Given the description of an element on the screen output the (x, y) to click on. 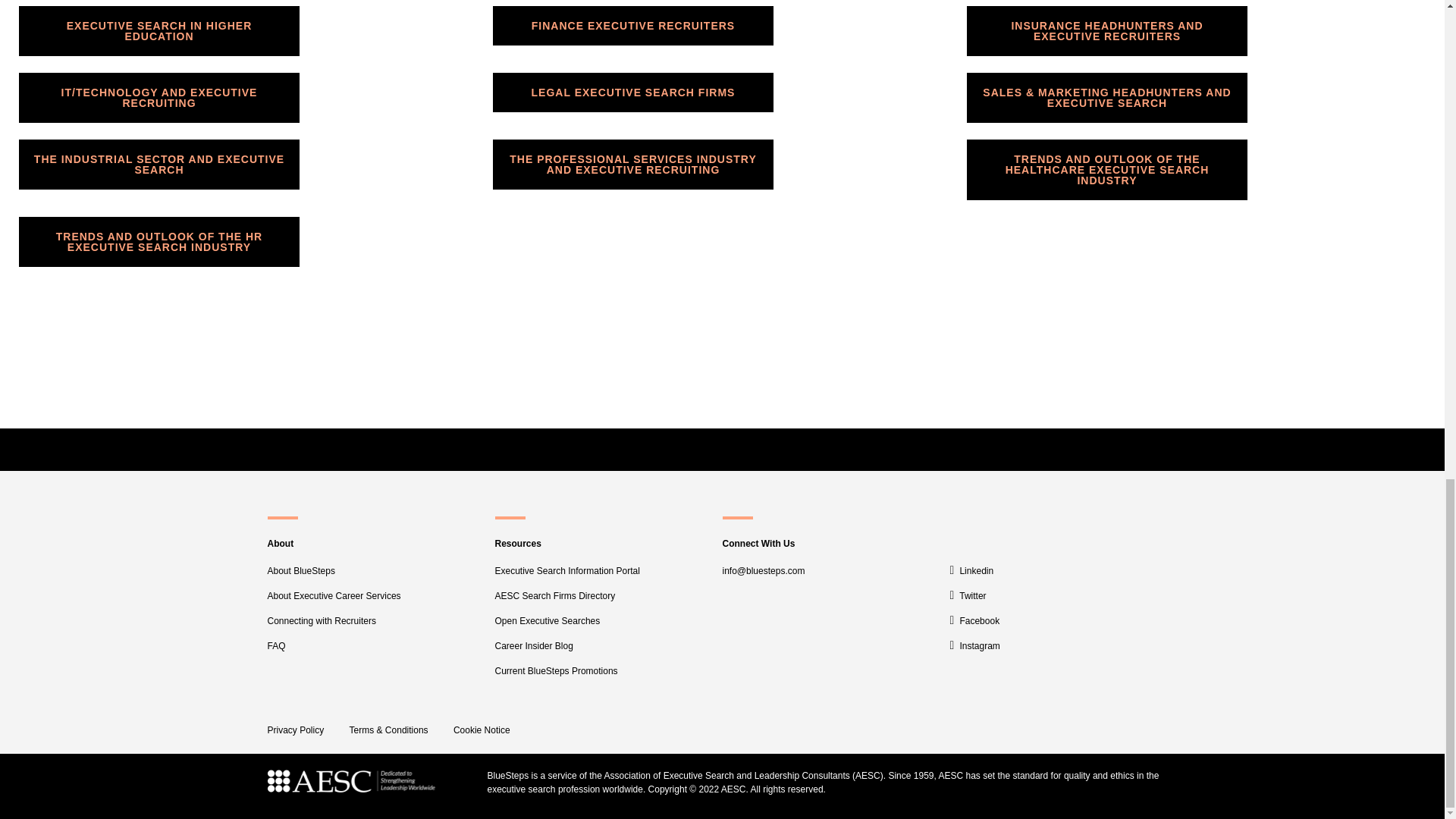
FINANCE EXECUTIVE RECRUITERS (633, 25)
EXECUTIVE SEARCH IN HIGHER EDUCATION (158, 30)
THE PROFESSIONAL SERVICES INDUSTRY AND EXECUTIVE RECRUITING (633, 164)
INSURANCE HEADHUNTERS AND EXECUTIVE RECRUITERS (1106, 30)
LEGAL EXECUTIVE SEARCH FIRMS (633, 92)
THE INDUSTRIAL SECTOR AND EXECUTIVE SEARCH (158, 164)
